Given the description of an element on the screen output the (x, y) to click on. 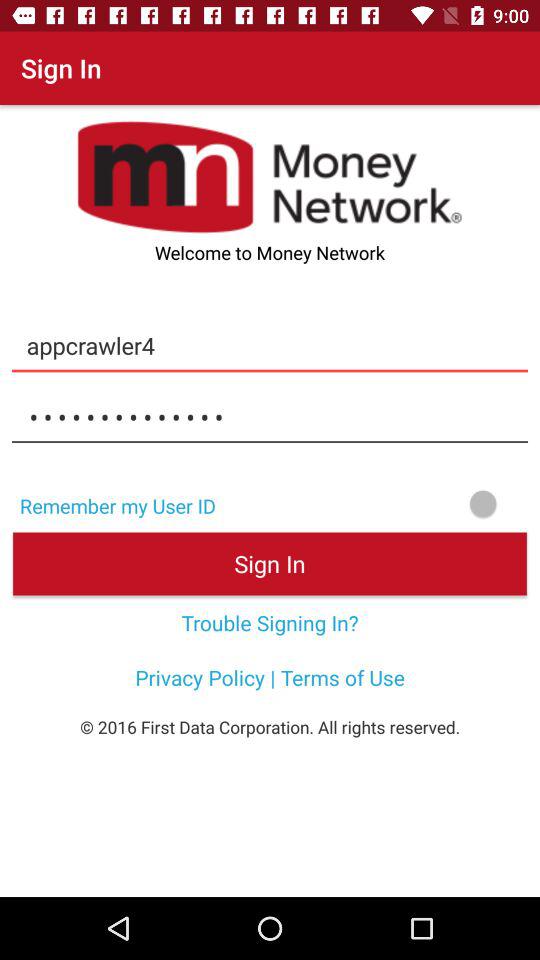
scroll to appcrawler3116 (269, 417)
